Given the description of an element on the screen output the (x, y) to click on. 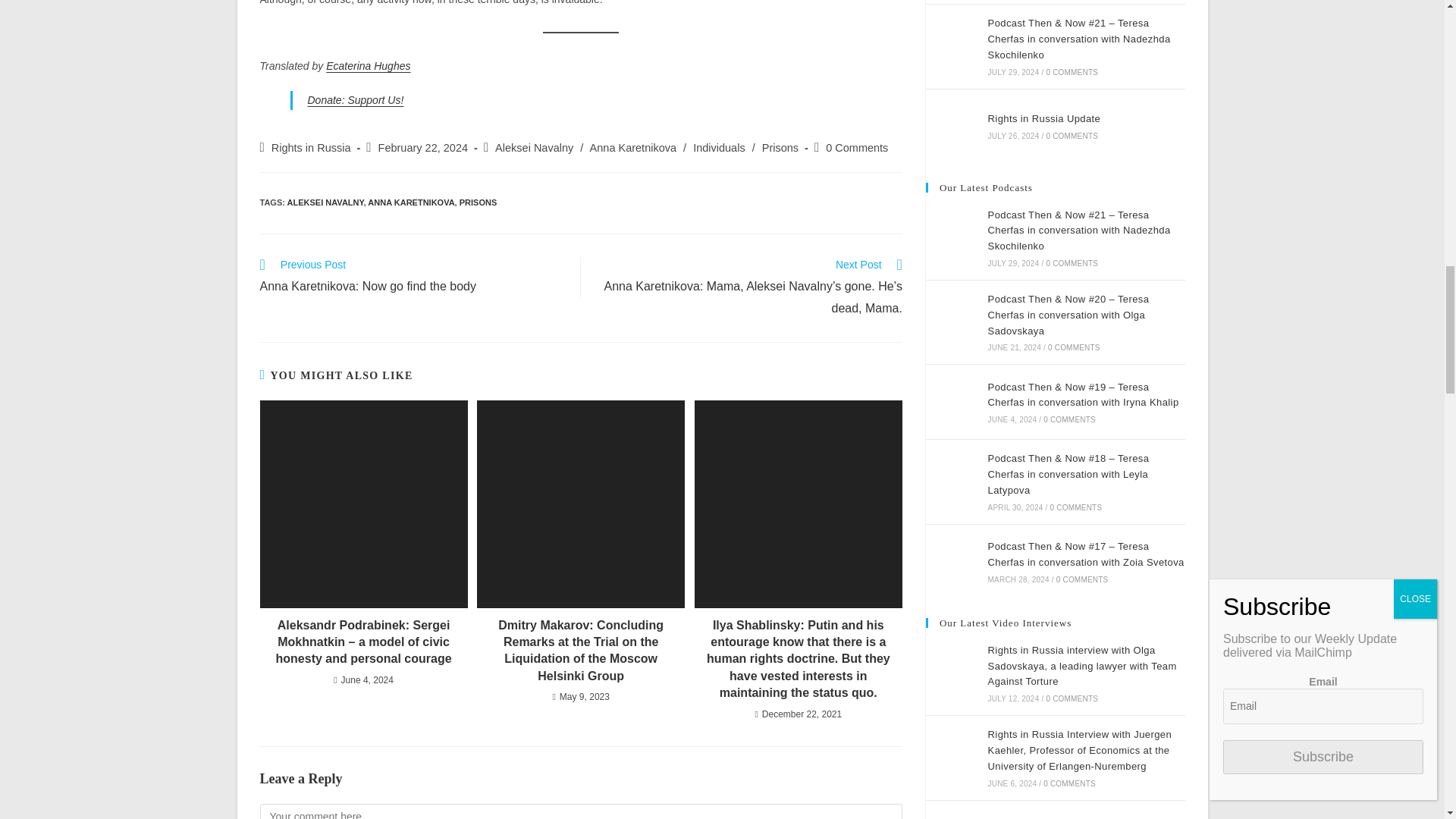
Anna Karetnikova (633, 147)
ANNA KARETNIKOVA (411, 202)
Prisons (779, 147)
Posts by Rights in Russia (310, 147)
Aleksei Navalny (534, 147)
0 Comments (856, 147)
ALEKSEI NAVALNY (325, 202)
PRISONS (478, 202)
Donate: Support Us! (355, 100)
Ecaterina Hughes (368, 65)
